Given the description of an element on the screen output the (x, y) to click on. 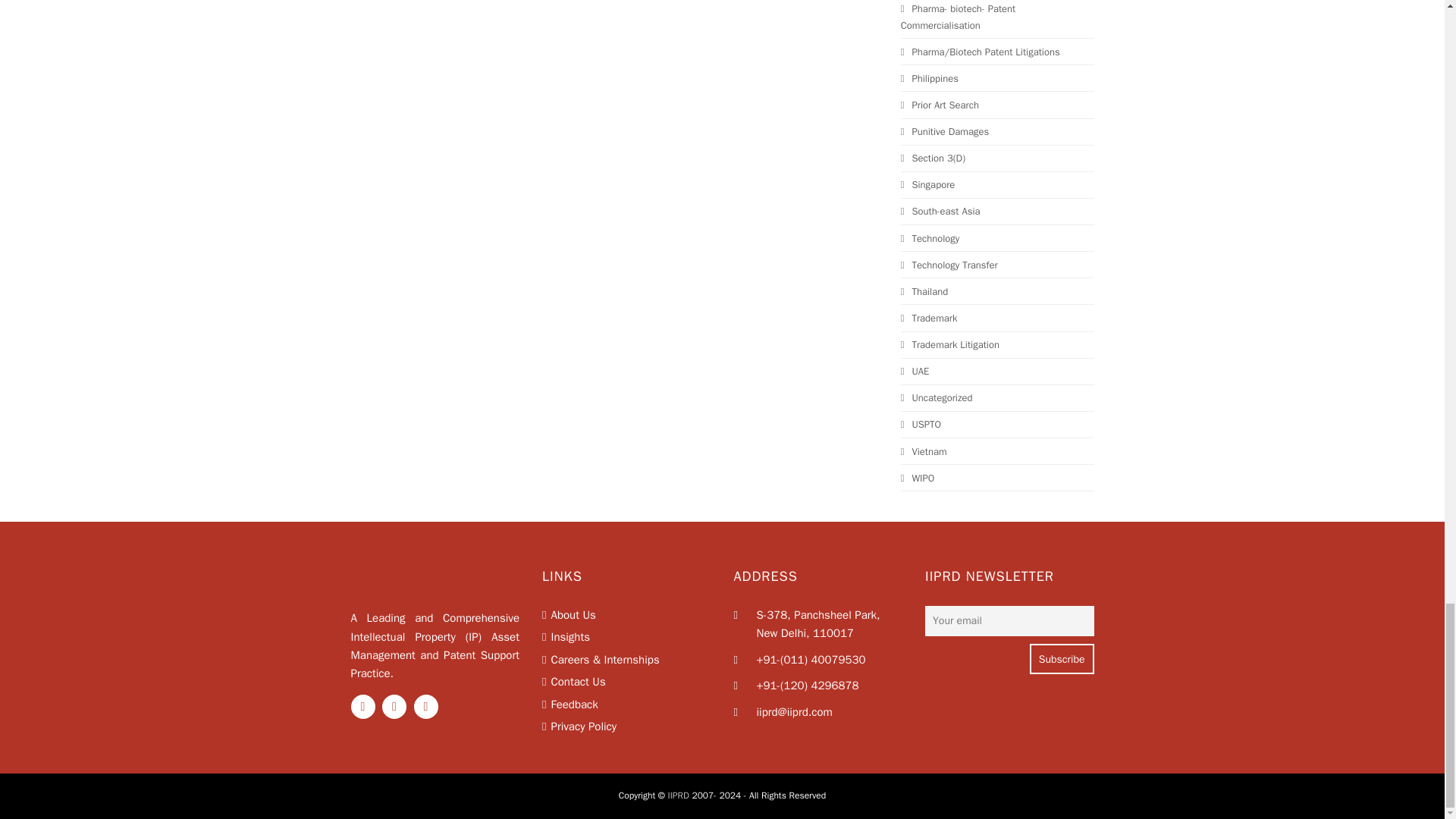
Subscribe (1061, 658)
